Given the description of an element on the screen output the (x, y) to click on. 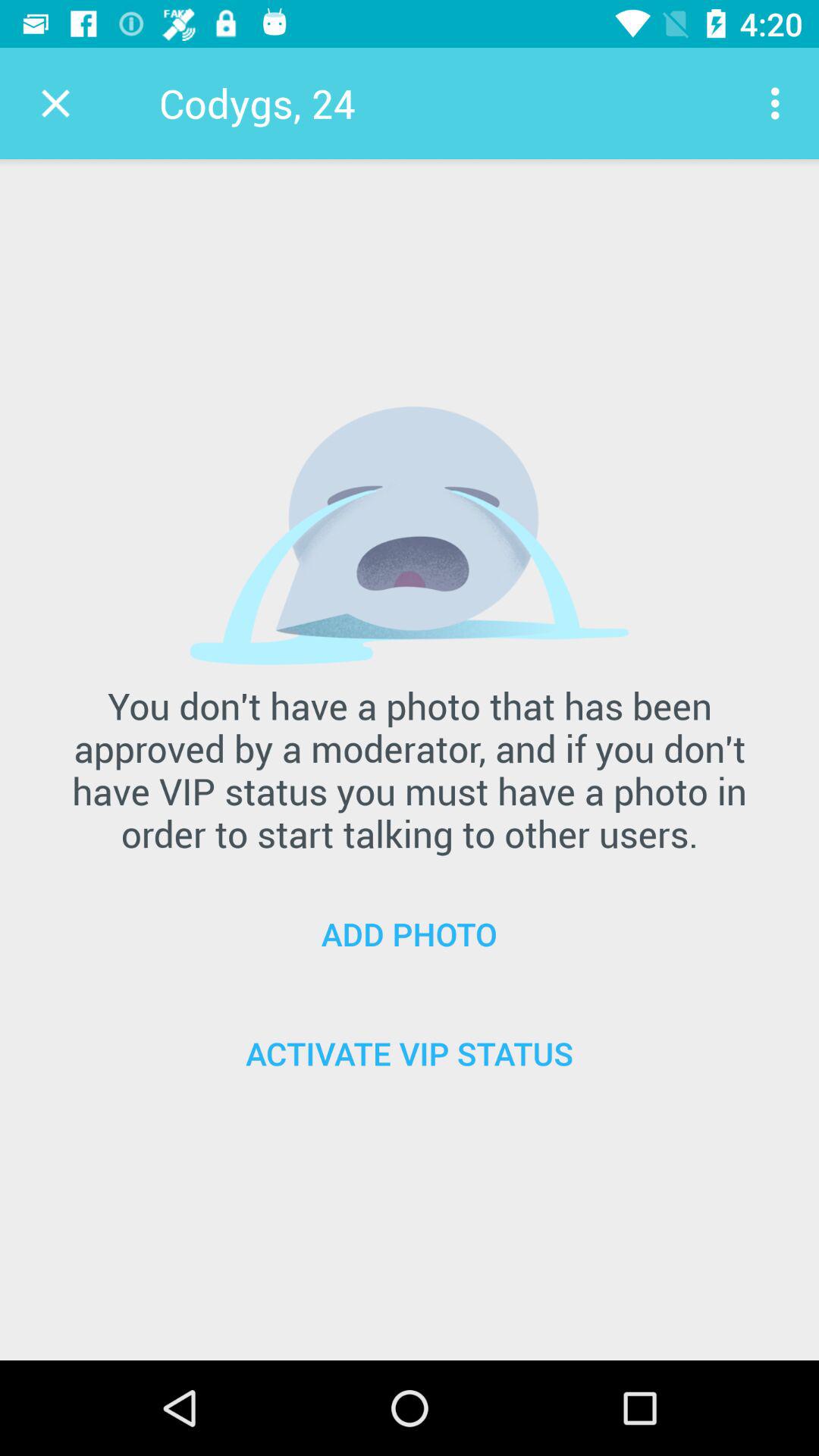
swipe until codygs, 24 (257, 102)
